Given the description of an element on the screen output the (x, y) to click on. 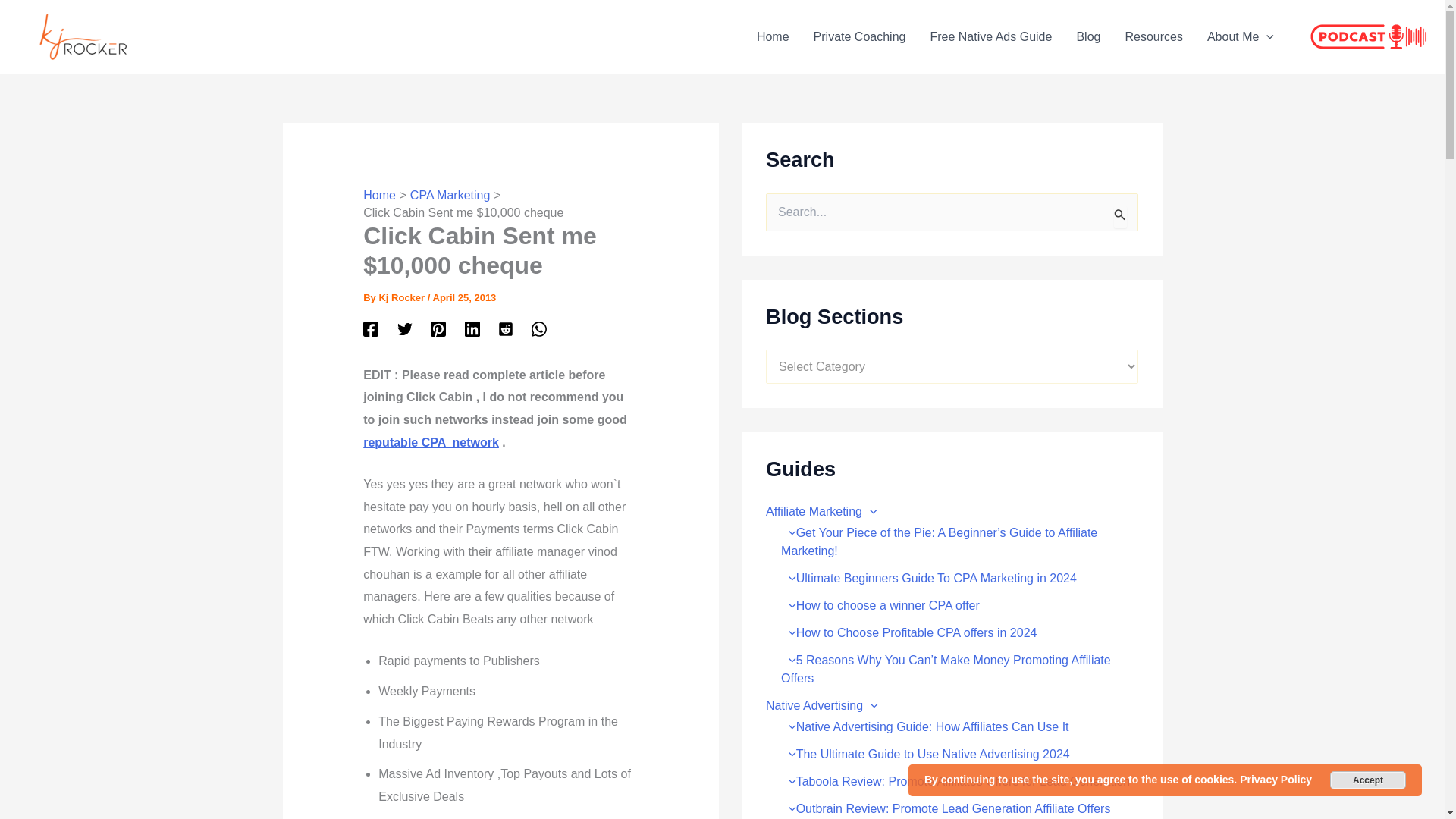
Affiliate Marketing Blog (1088, 37)
Resources (1152, 37)
Free Native Ads Guide (990, 37)
Home (379, 195)
Blog (1088, 37)
Private Coaching (860, 37)
About Me (1240, 37)
Home (773, 37)
CPA Marketing Coach (860, 37)
View all posts by Kj Rocker (402, 297)
KJ Rocker Blog (773, 37)
CPA Marketing (450, 195)
reputable CPA  network (430, 441)
Kj Rocker (402, 297)
